Given the description of an element on the screen output the (x, y) to click on. 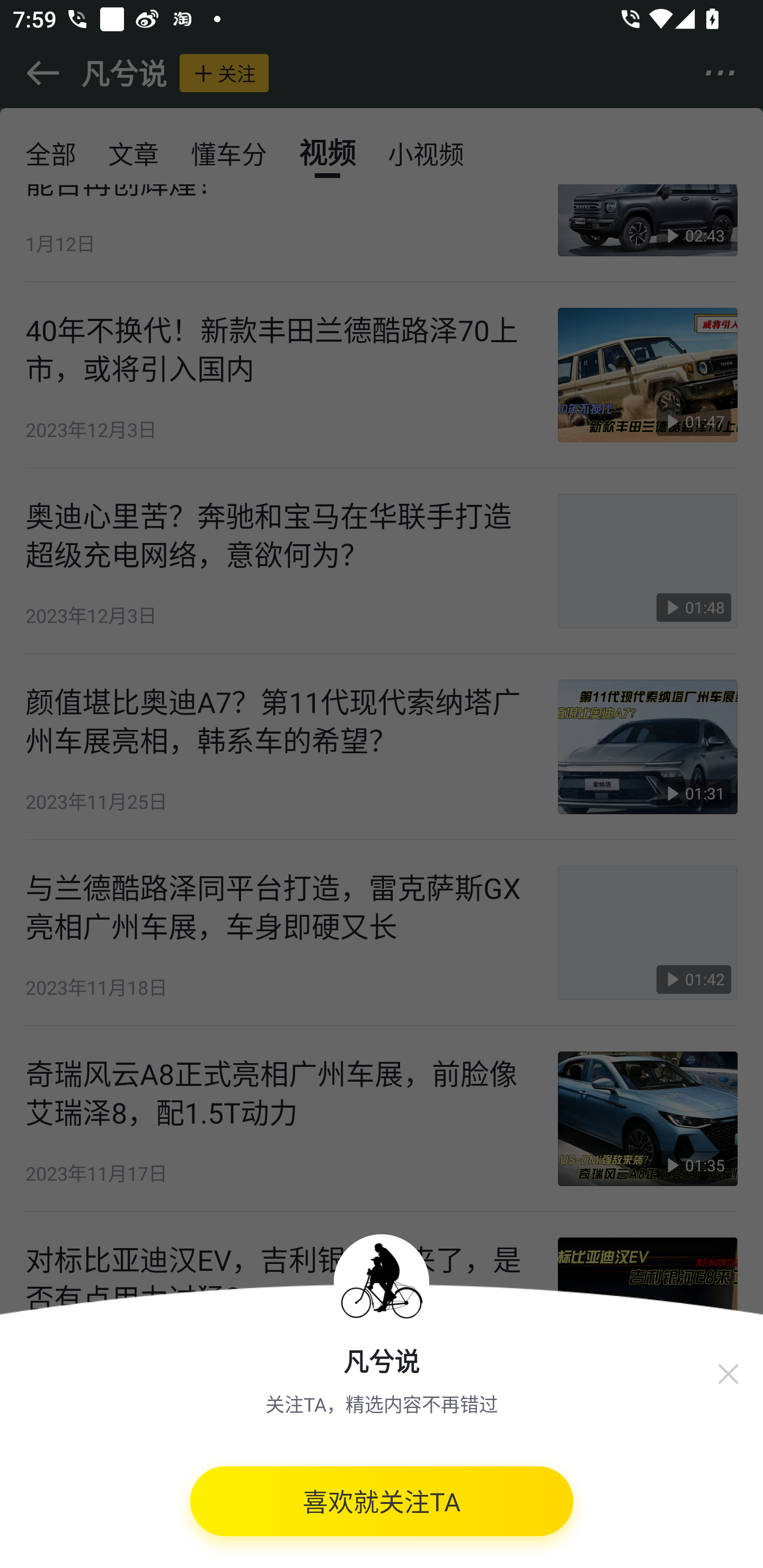
喜欢就关注TA (381, 1507)
